Given the description of an element on the screen output the (x, y) to click on. 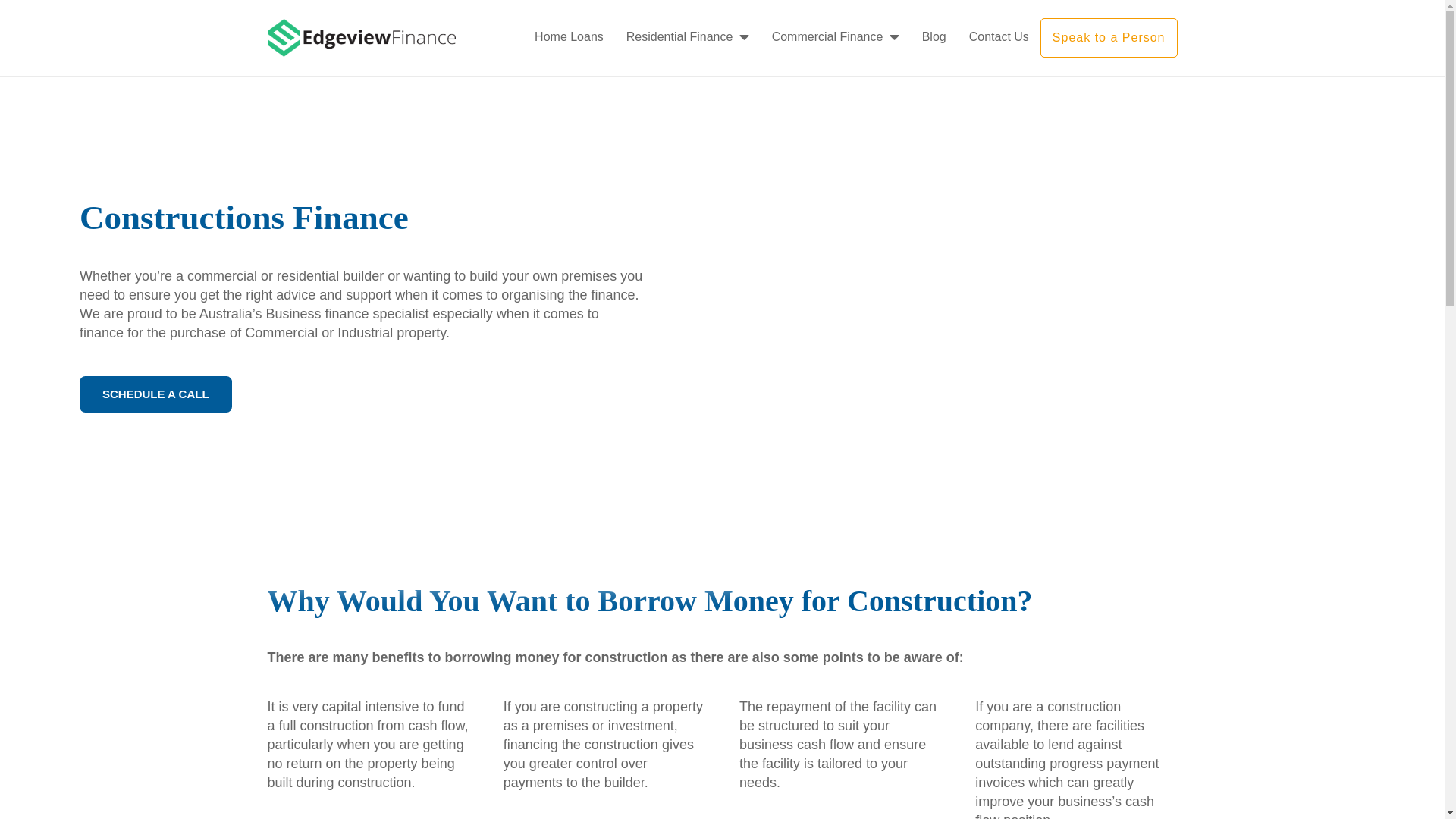
Home Loans Element type: text (569, 37)
Commercial Finance Element type: text (835, 37)
Residential Finance Element type: text (687, 37)
Speak to a Person Element type: text (1108, 37)
SCHEDULE A CALL Element type: text (155, 394)
Blog Element type: text (933, 37)
Contact Us Element type: text (998, 37)
